Given the description of an element on the screen output the (x, y) to click on. 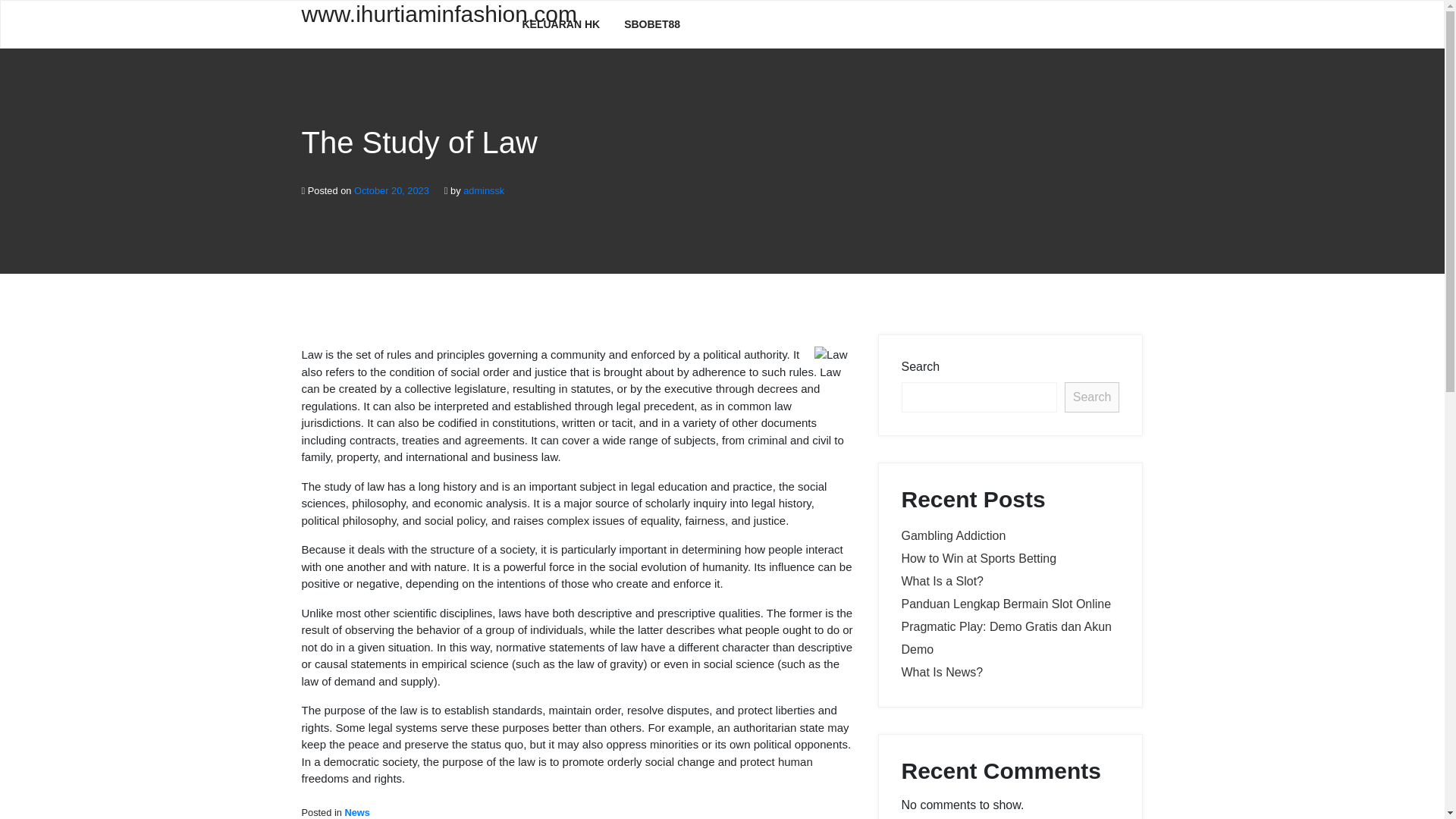
Search (1091, 397)
SBOBET88 (652, 23)
News (356, 812)
How to Win at Sports Betting (979, 558)
October 20, 2023 (391, 190)
SBOBET88 (652, 23)
What Is News? (941, 671)
Gambling Addiction (953, 535)
www.ihurtiaminfashion.com (400, 22)
adminssk (483, 190)
KELUARAN HK (560, 23)
keluaran hk (560, 23)
What Is a Slot? (942, 581)
